Given the description of an element on the screen output the (x, y) to click on. 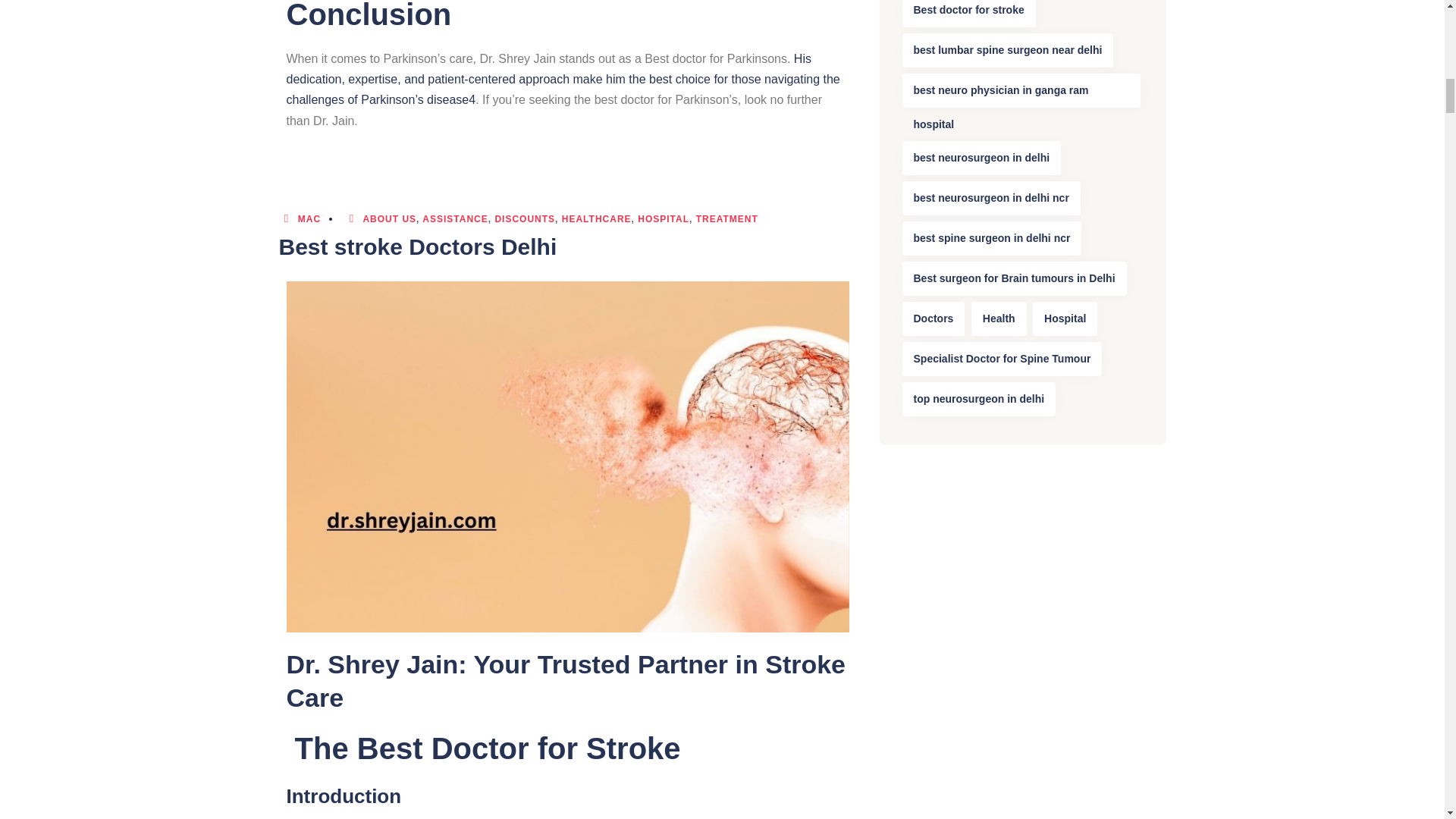
ABOUT US (389, 218)
DISCOUNTS (524, 218)
MAC (300, 218)
ASSISTANCE (454, 218)
